Given the description of an element on the screen output the (x, y) to click on. 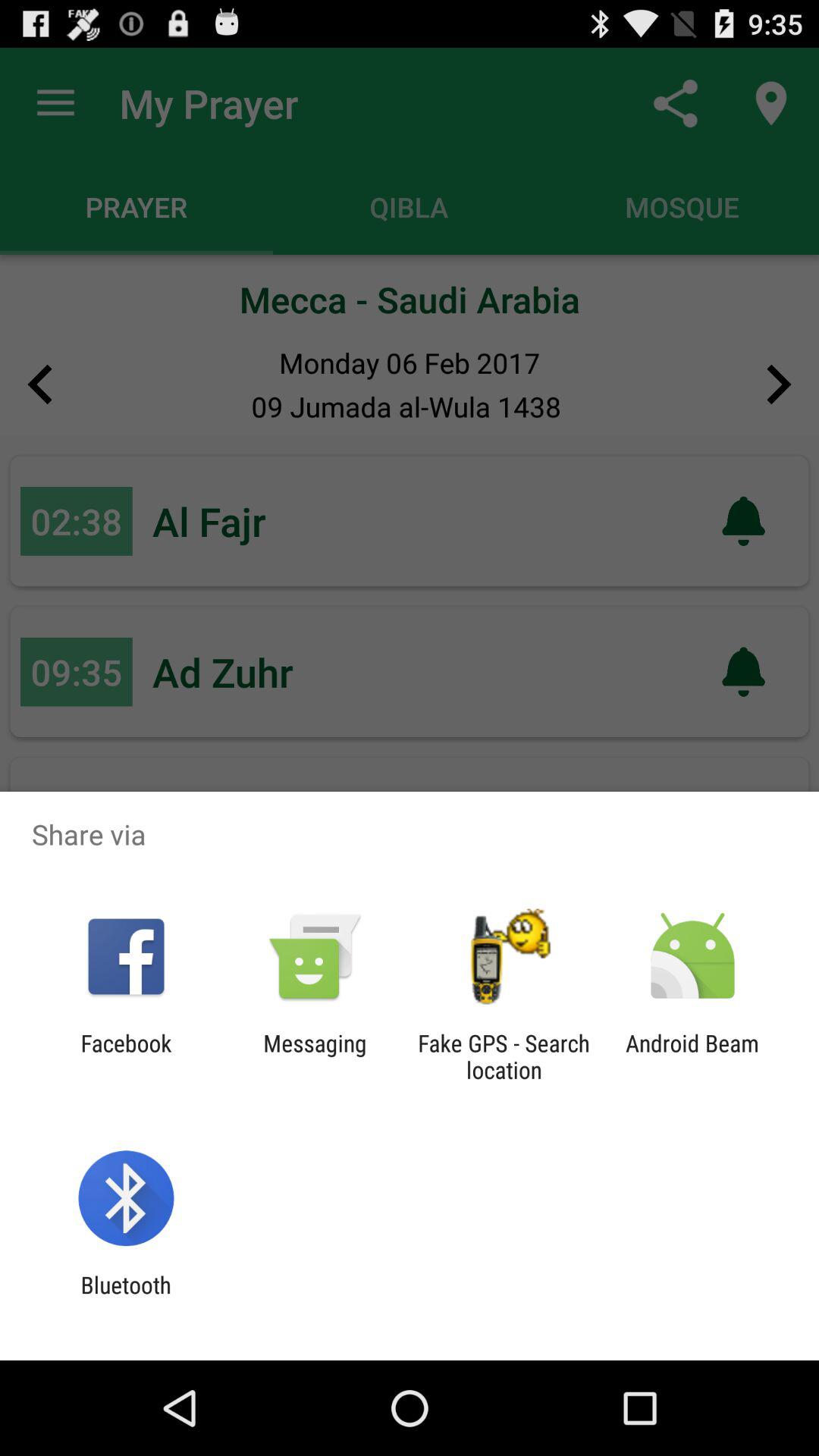
open the app next to the messaging app (503, 1056)
